Given the description of an element on the screen output the (x, y) to click on. 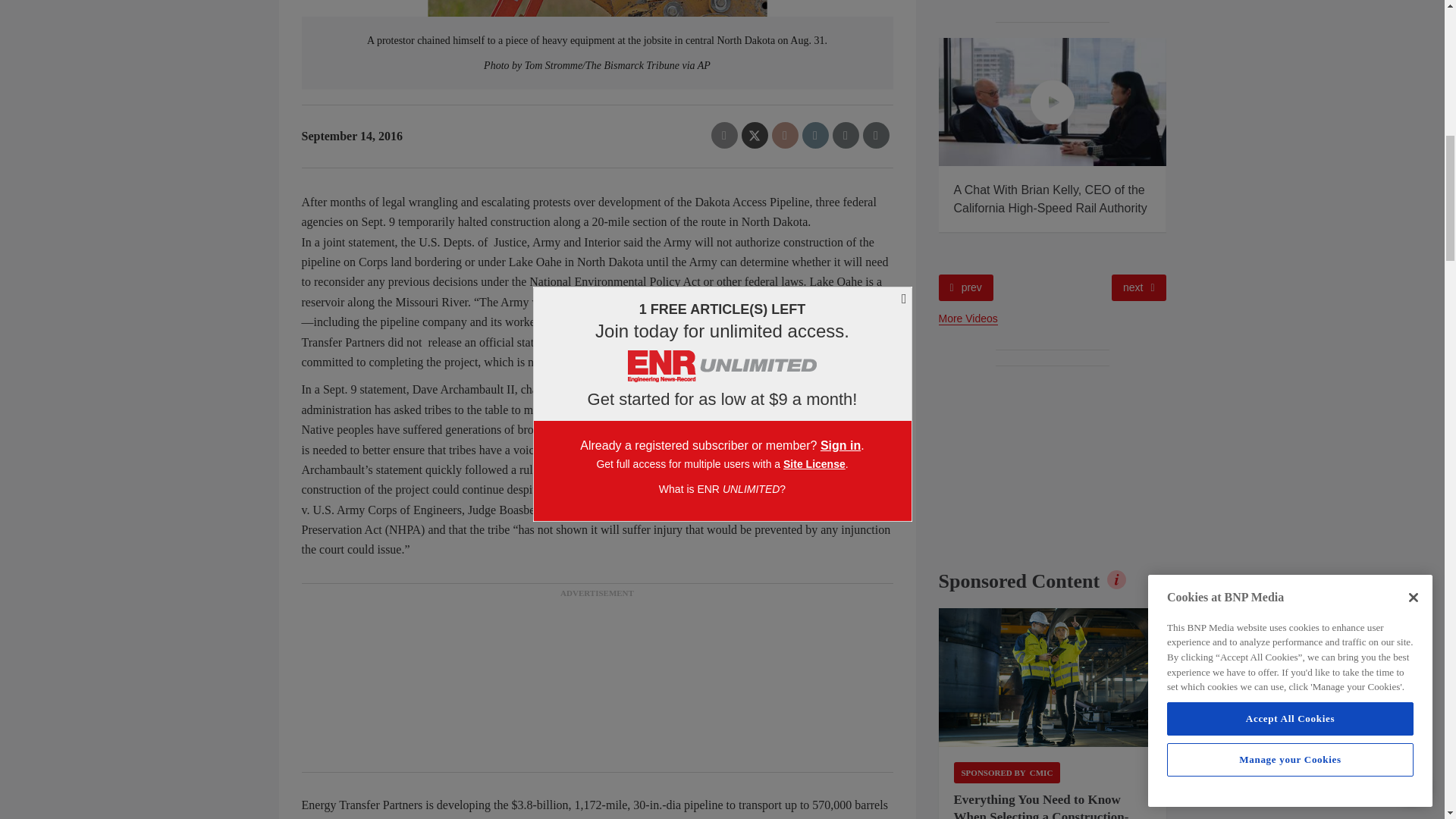
Sponsored by CMiC (1007, 772)
The Field Leaders Guide to Collaboration in Construction (825, 101)
construction people (1052, 677)
